Given the description of an element on the screen output the (x, y) to click on. 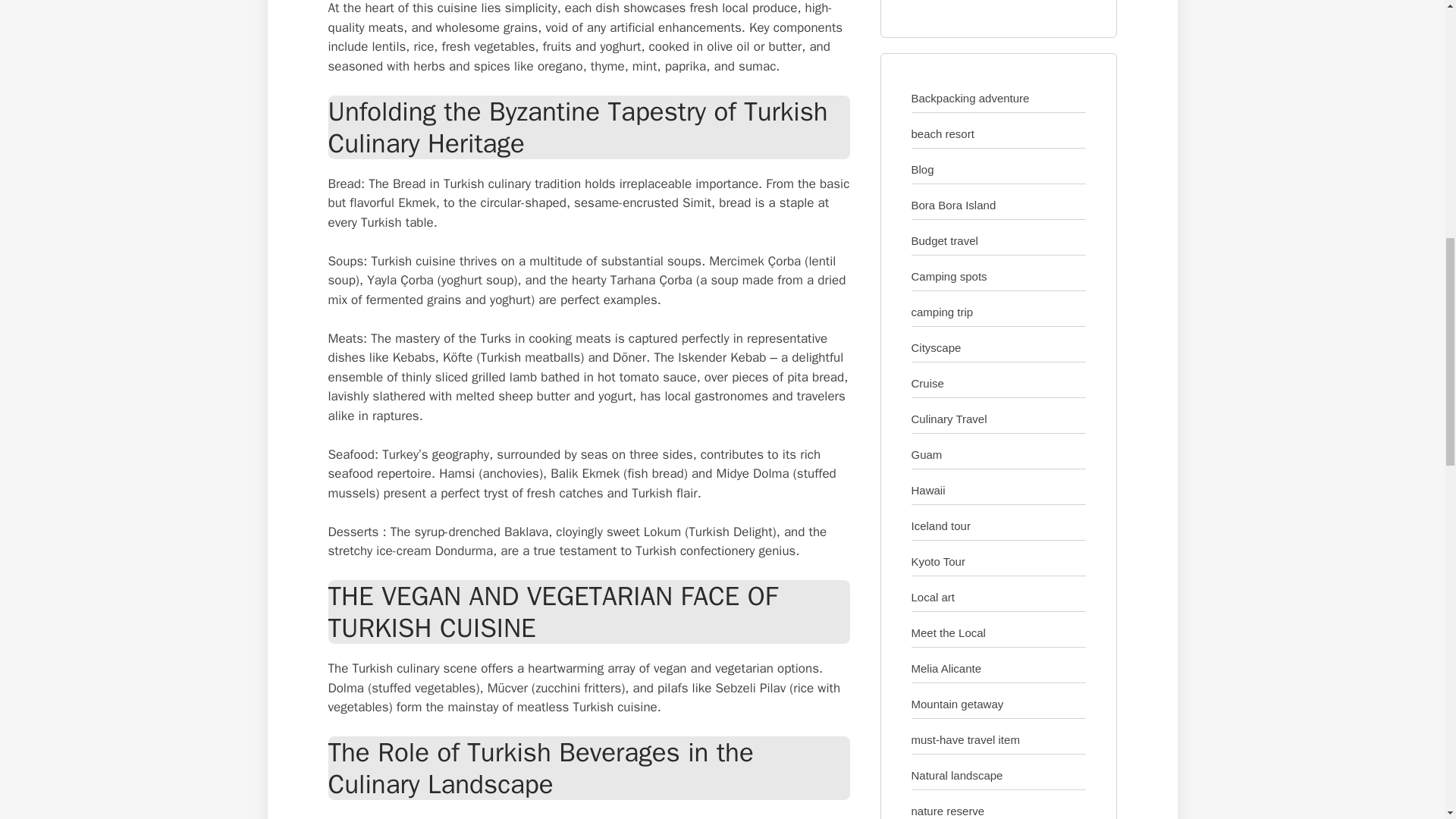
Backpacking adventure (970, 97)
Scroll back to top (1406, 720)
Blog (922, 169)
beach resort (942, 133)
Bora Bora Island (953, 205)
